Given the description of an element on the screen output the (x, y) to click on. 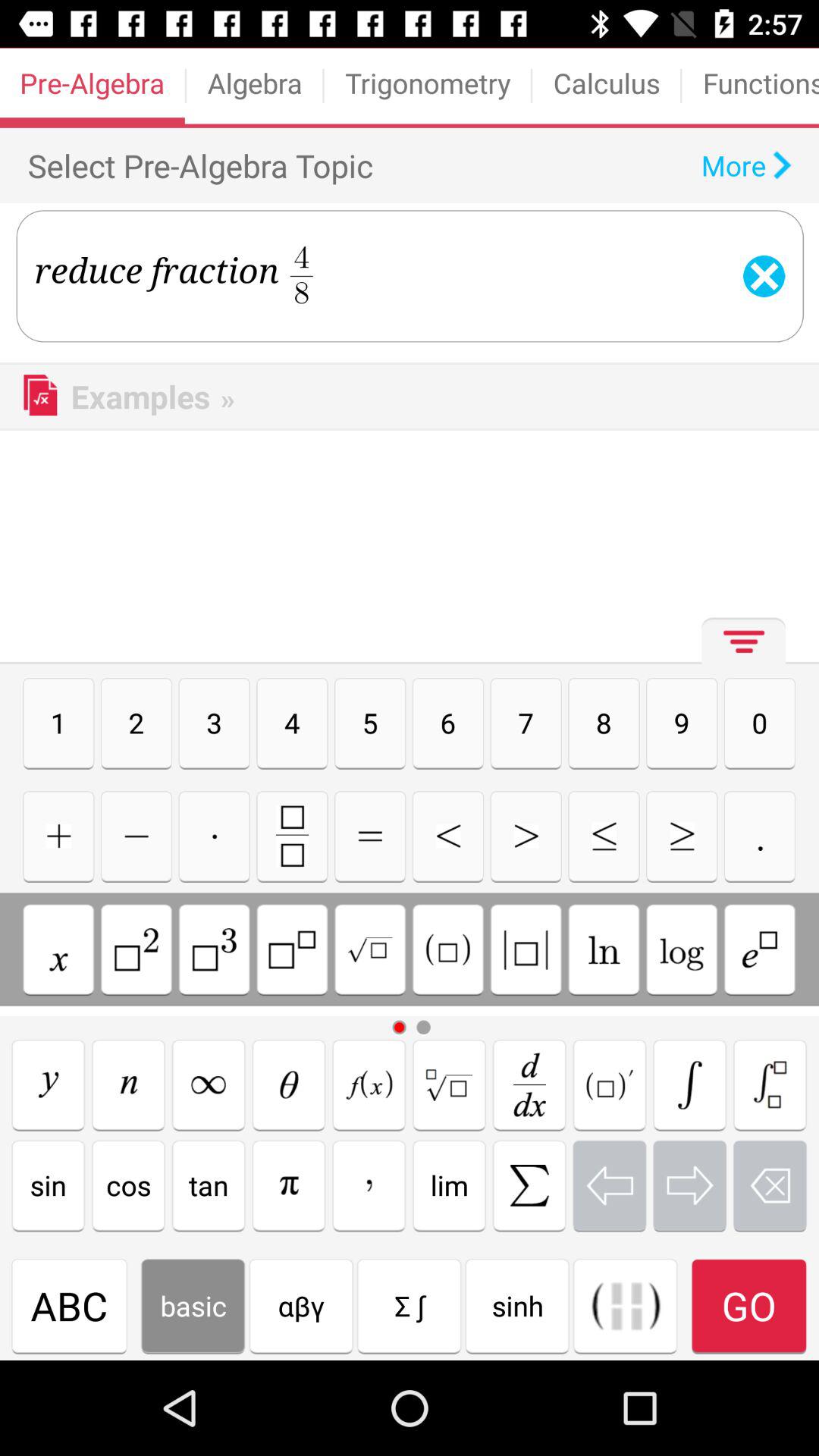
select delete option (769, 1185)
